Given the description of an element on the screen output the (x, y) to click on. 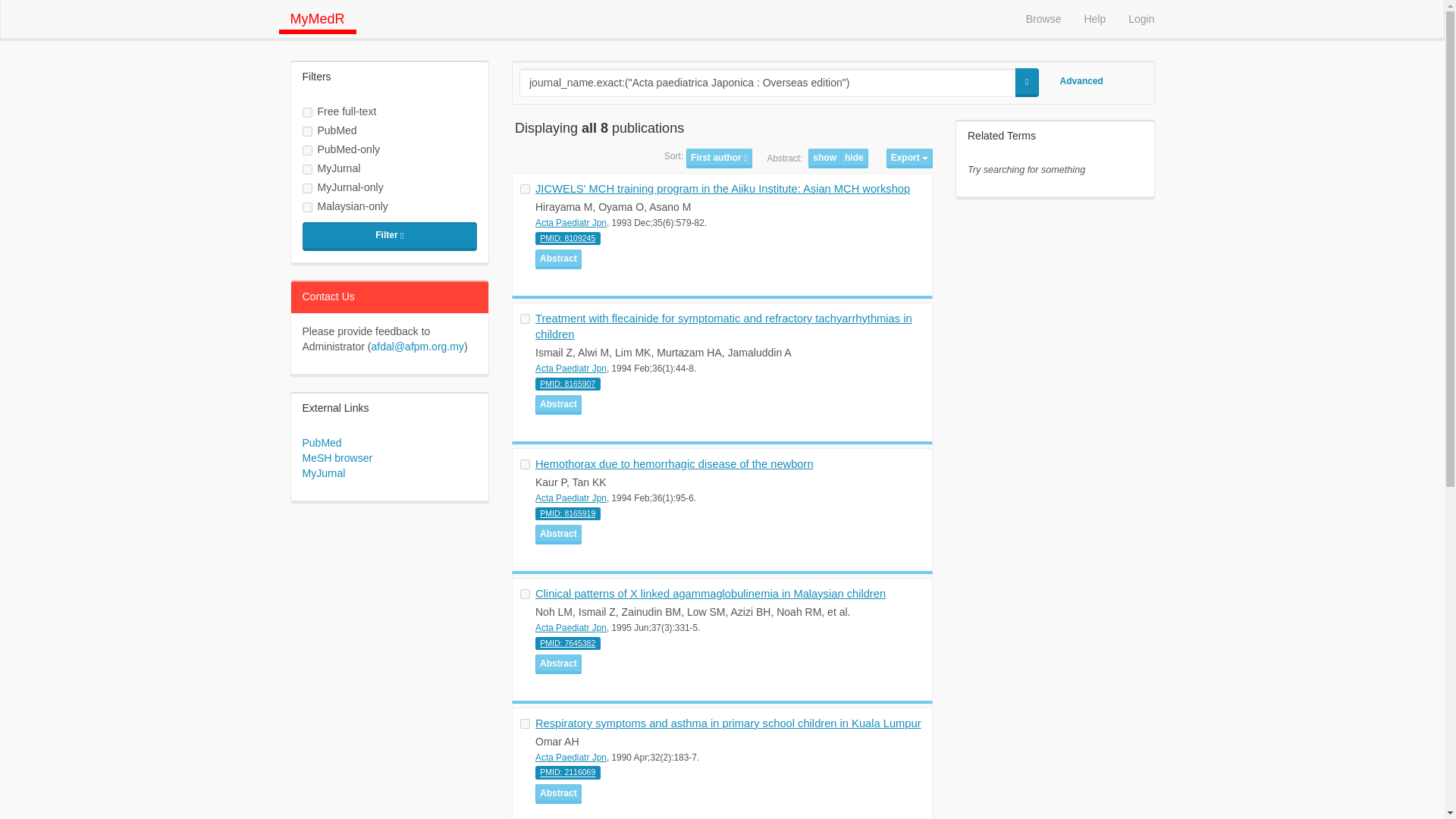
PMID: 8165919 (567, 512)
on (524, 464)
Export (909, 158)
PMID: 8165907 (567, 383)
on (524, 723)
1 (306, 188)
Abstract (557, 259)
MyMedR (317, 17)
1 (306, 169)
